Given the description of an element on the screen output the (x, y) to click on. 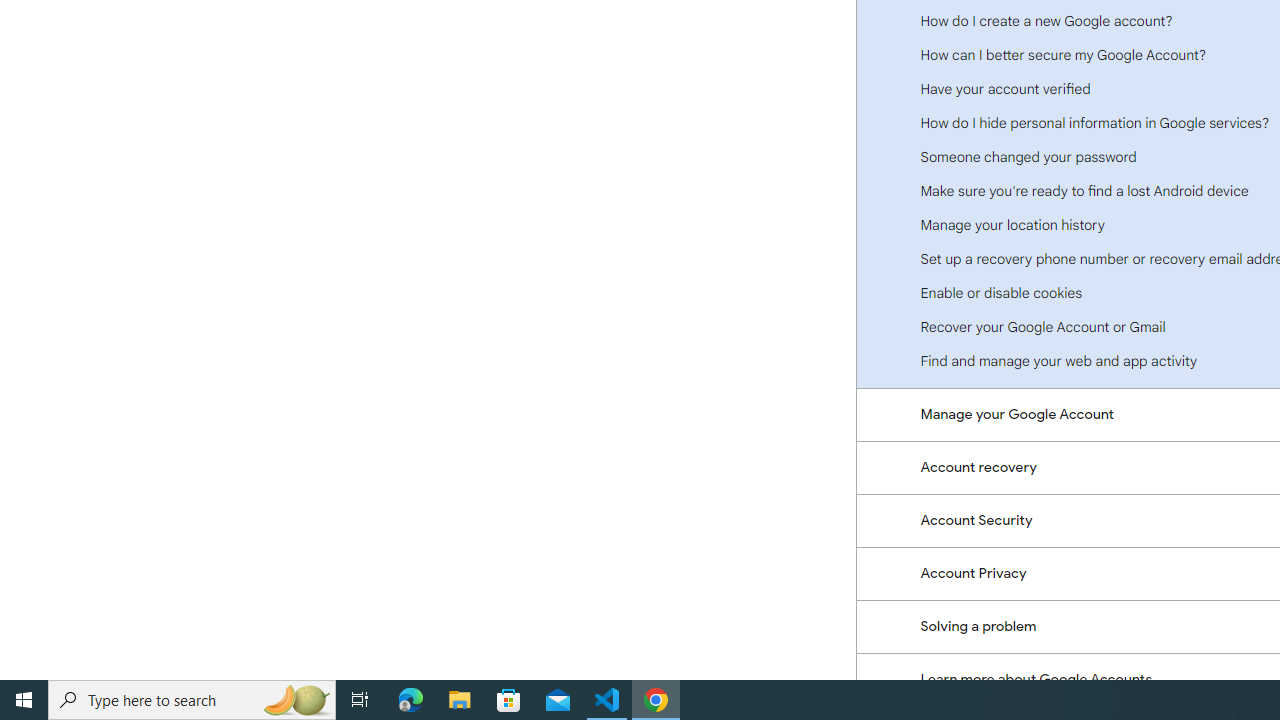
Start (24, 699)
Microsoft Edge (411, 699)
Task View (359, 699)
Visual Studio Code - 1 running window (607, 699)
Microsoft Store (509, 699)
Type here to search (191, 699)
File Explorer (460, 699)
Search highlights icon opens search home window (295, 699)
Google Chrome - 1 running window (656, 699)
